Given the description of an element on the screen output the (x, y) to click on. 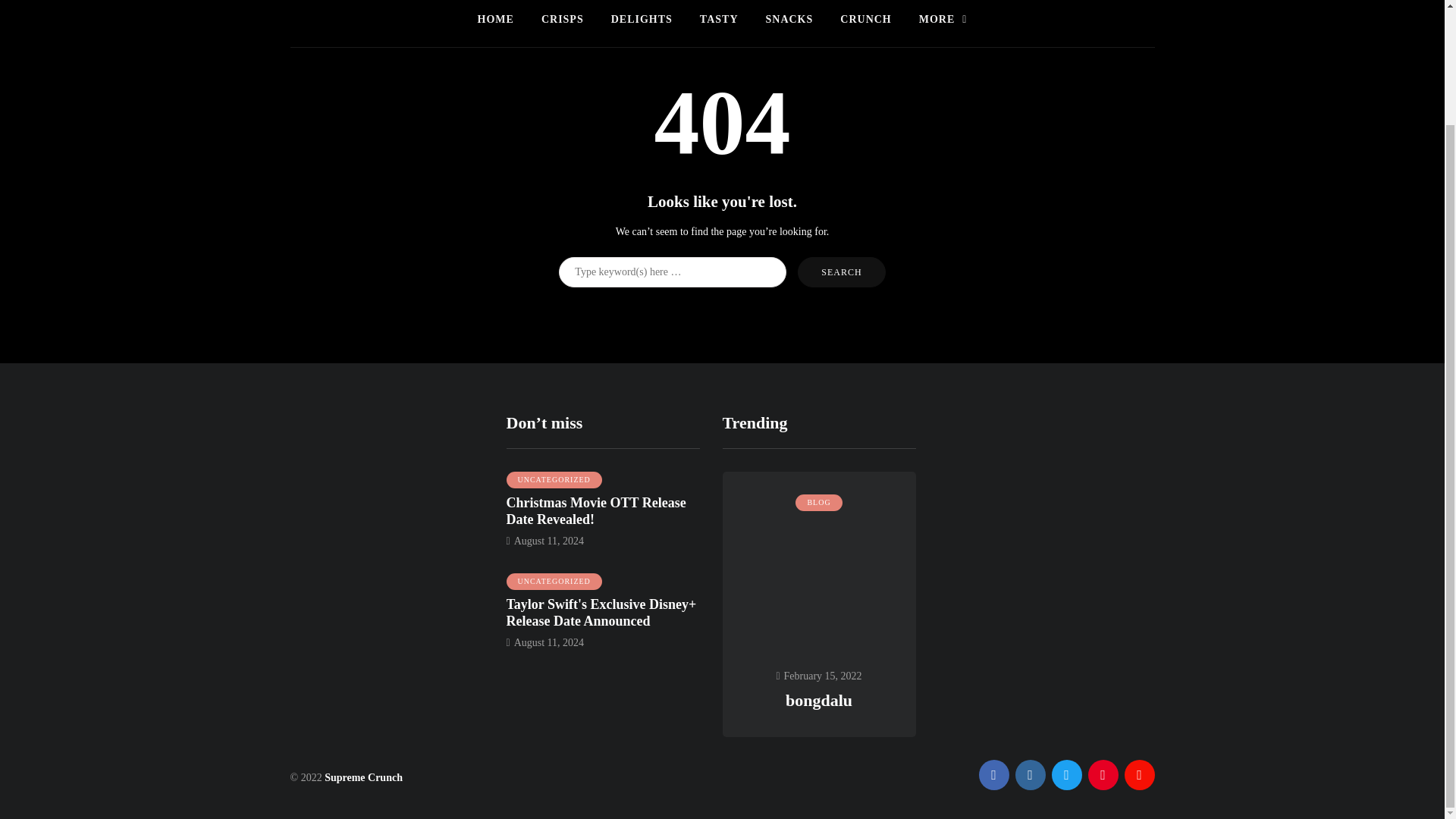
TASTY (718, 19)
MORE (943, 19)
SNACKS (789, 19)
CRISPS (561, 19)
Search (841, 271)
HOME (495, 19)
DELIGHTS (640, 19)
CRUNCH (865, 19)
